Given the description of an element on the screen output the (x, y) to click on. 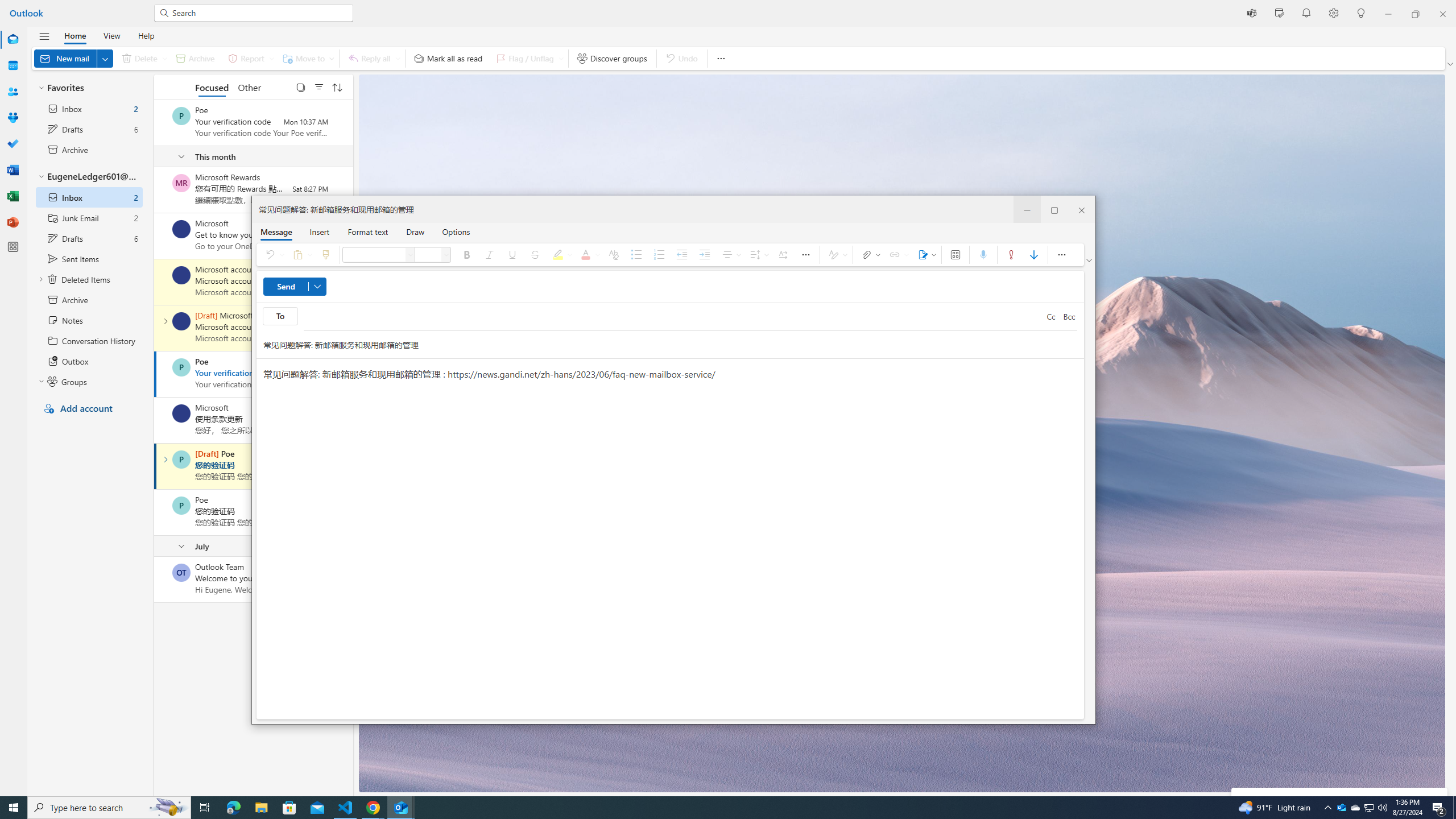
Paste (300, 254)
Filter (318, 86)
Clear formatting (613, 254)
Search highlights icon opens search home window (167, 807)
Microsoft Rewards (180, 182)
Mark as unread (154, 578)
Font (374, 254)
Notification Chevron (1327, 807)
Delete (141, 58)
Signature (1355, 807)
PowerPoint (925, 254)
Excel (12, 222)
